Given the description of an element on the screen output the (x, y) to click on. 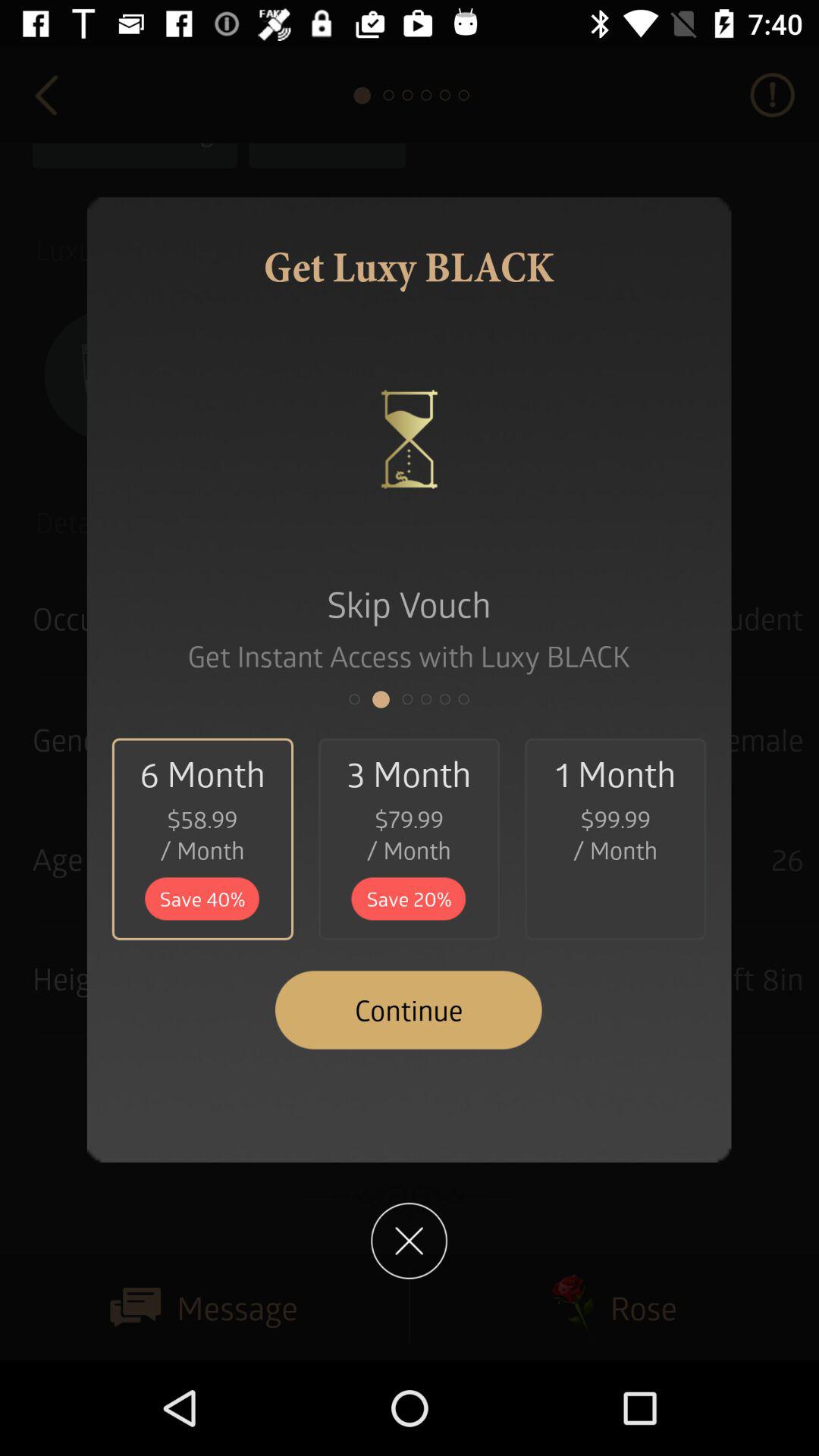
close the window (408, 1240)
